Given the description of an element on the screen output the (x, y) to click on. 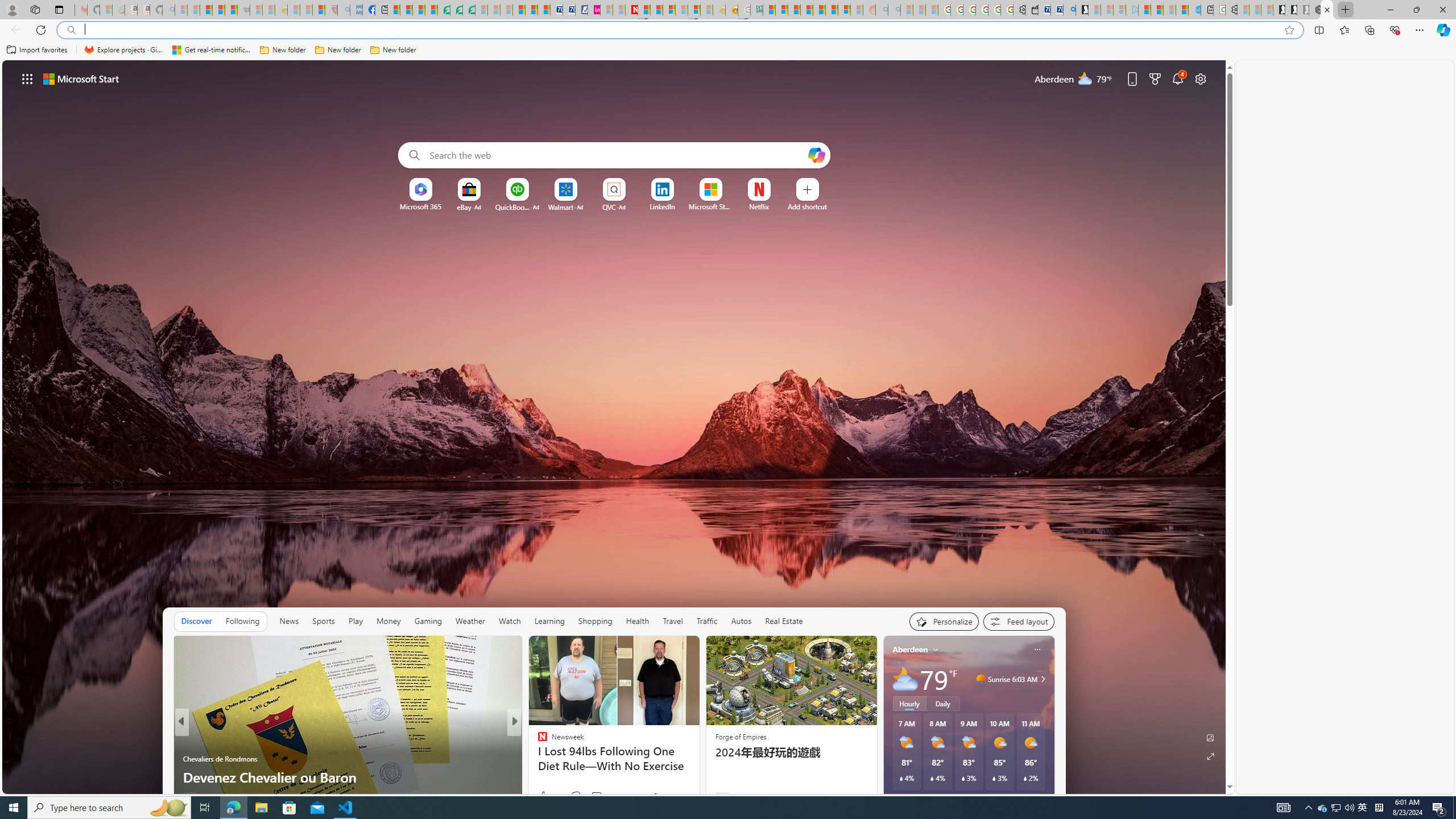
Latest Politics News & Archive | Newsweek.com (631, 9)
3 Top Stocks to Buy Before the Fed Meets on September 17th (697, 767)
Microsoft account | Privacy (781, 9)
13 Secrets for Building Powerful Legs (697, 777)
I Lost 4 Pant Sizes While Still Eating Junk Food Every Day (697, 767)
News (288, 621)
Eat This, Not That! (537, 740)
